Given the description of an element on the screen output the (x, y) to click on. 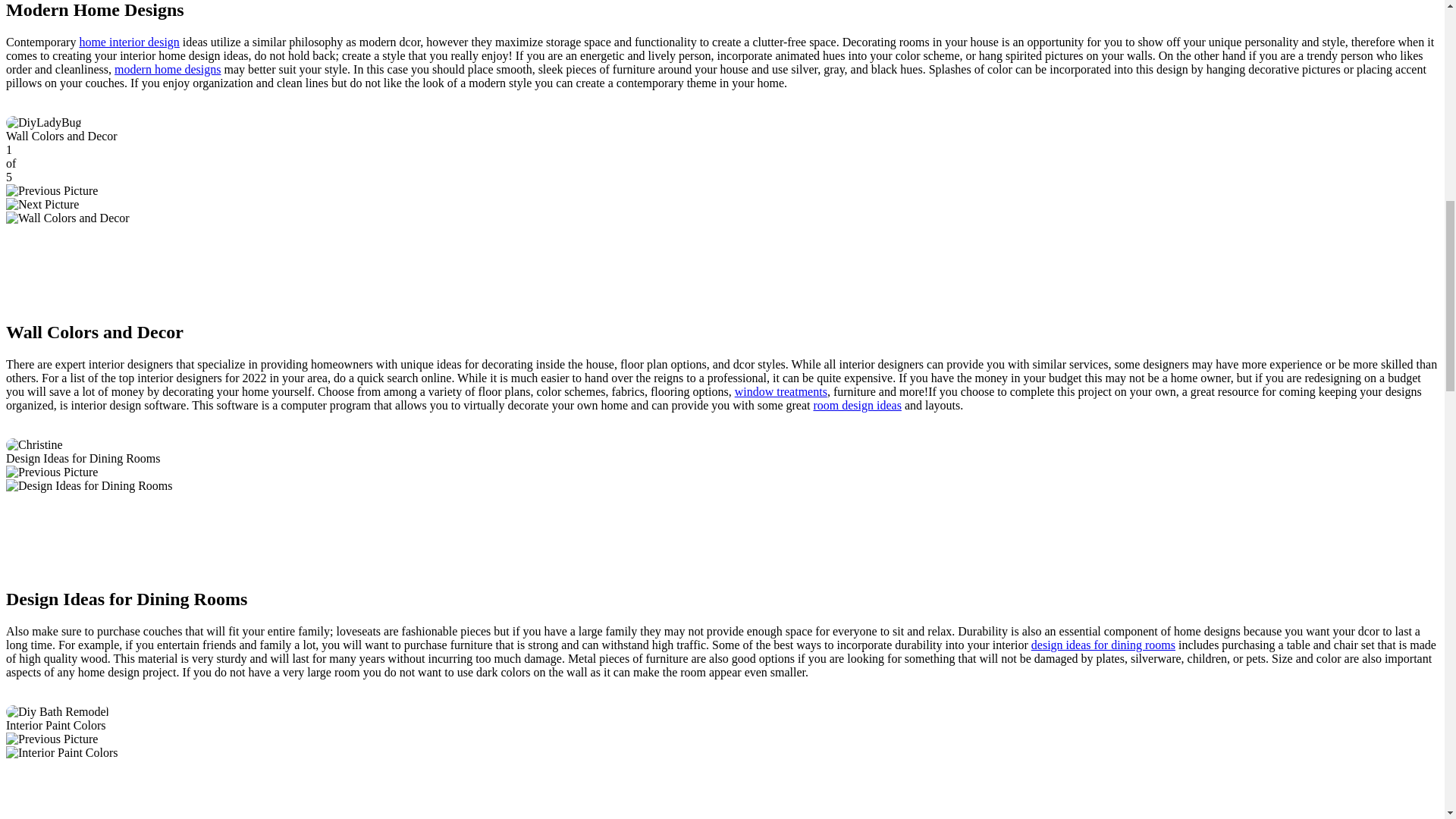
home interior design (128, 42)
modern home designs (168, 69)
design ideas for dining rooms (1102, 644)
room design ideas (856, 404)
window treatments (781, 391)
